Given the description of an element on the screen output the (x, y) to click on. 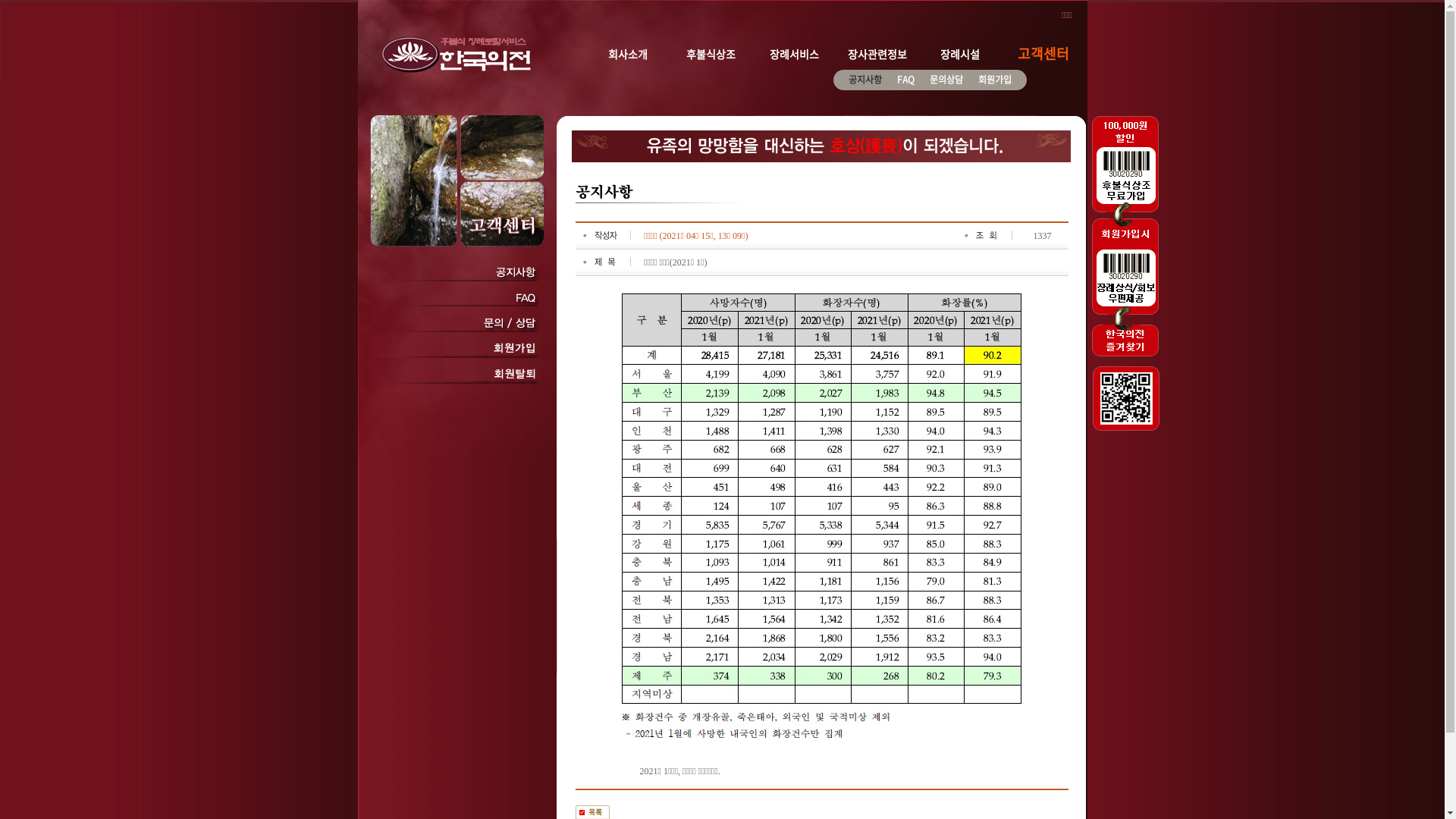
FAQ Element type: text (904, 79)
